Given the description of an element on the screen output the (x, y) to click on. 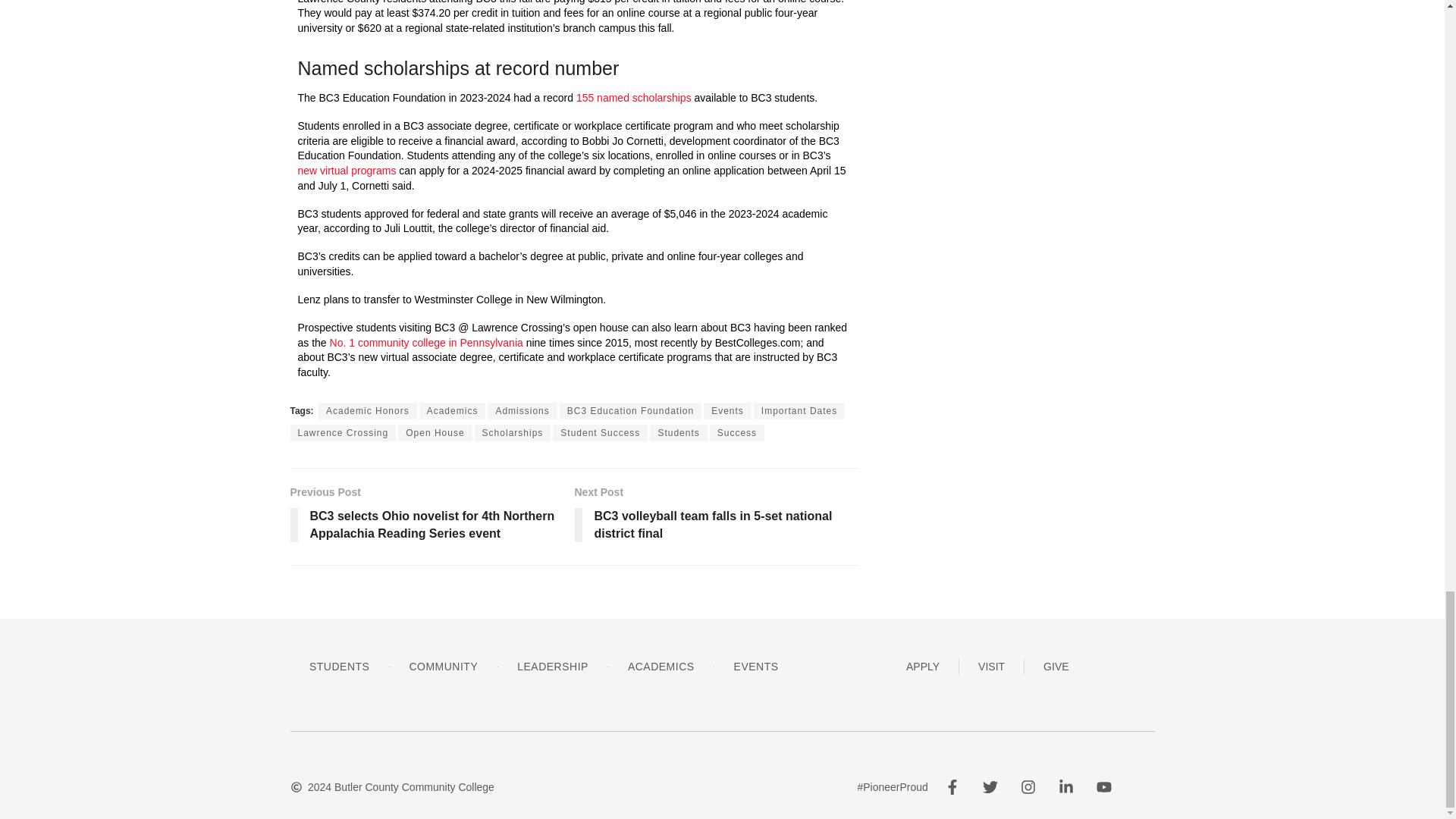
new virtual programs (346, 170)
Academic Honors (367, 410)
155 named scholarships (633, 97)
No. 1 community college in Pennsylvania (426, 342)
